Given the description of an element on the screen output the (x, y) to click on. 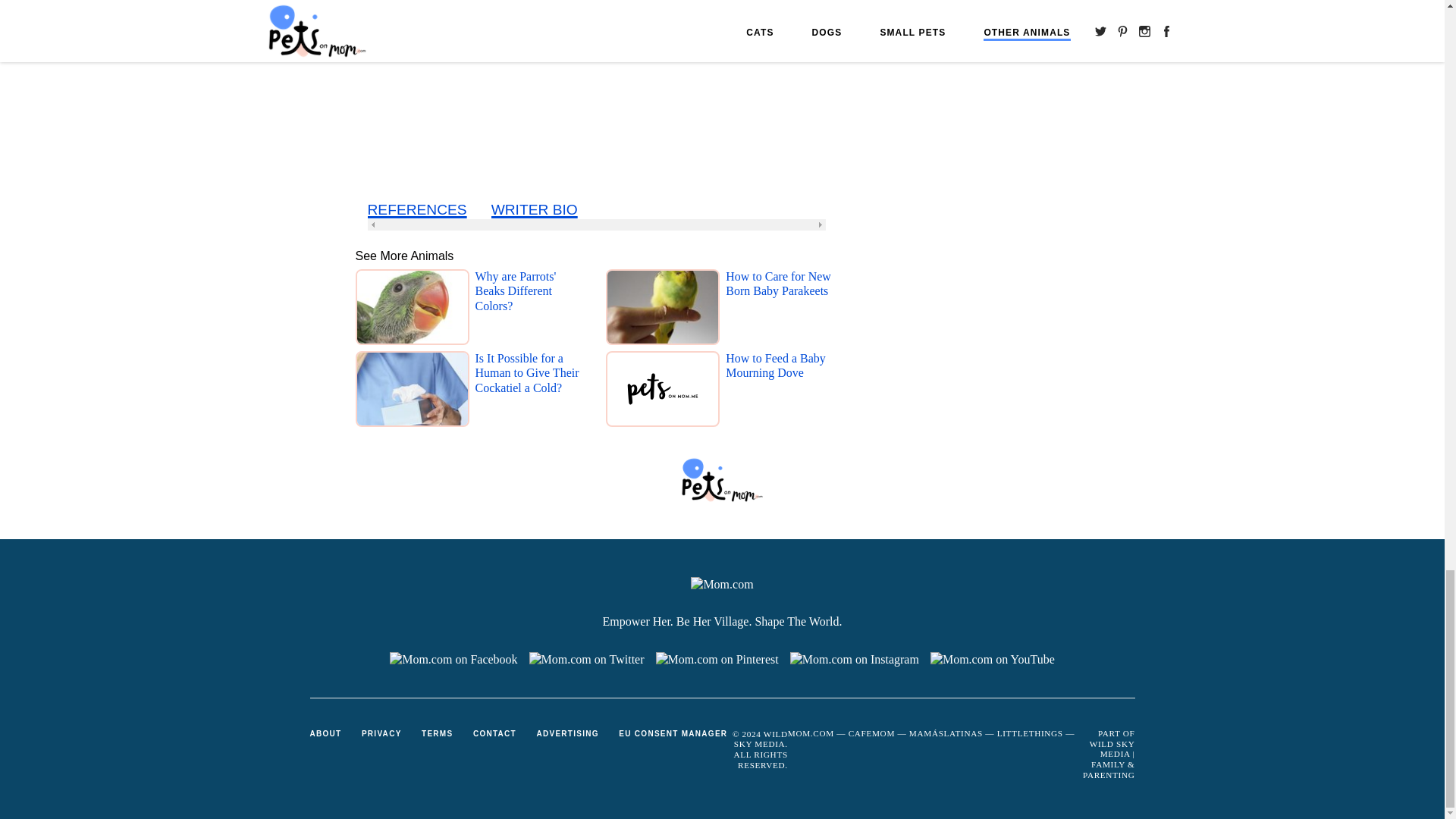
How to Feed a Baby Mourning Dove (781, 392)
Is It Possible for a Human to Give Their Cockatiel a Cold? (530, 392)
Why are Parrots' Beaks Different Colors? (530, 310)
How to Care for New Born Baby Parakeets (781, 310)
